Given the description of an element on the screen output the (x, y) to click on. 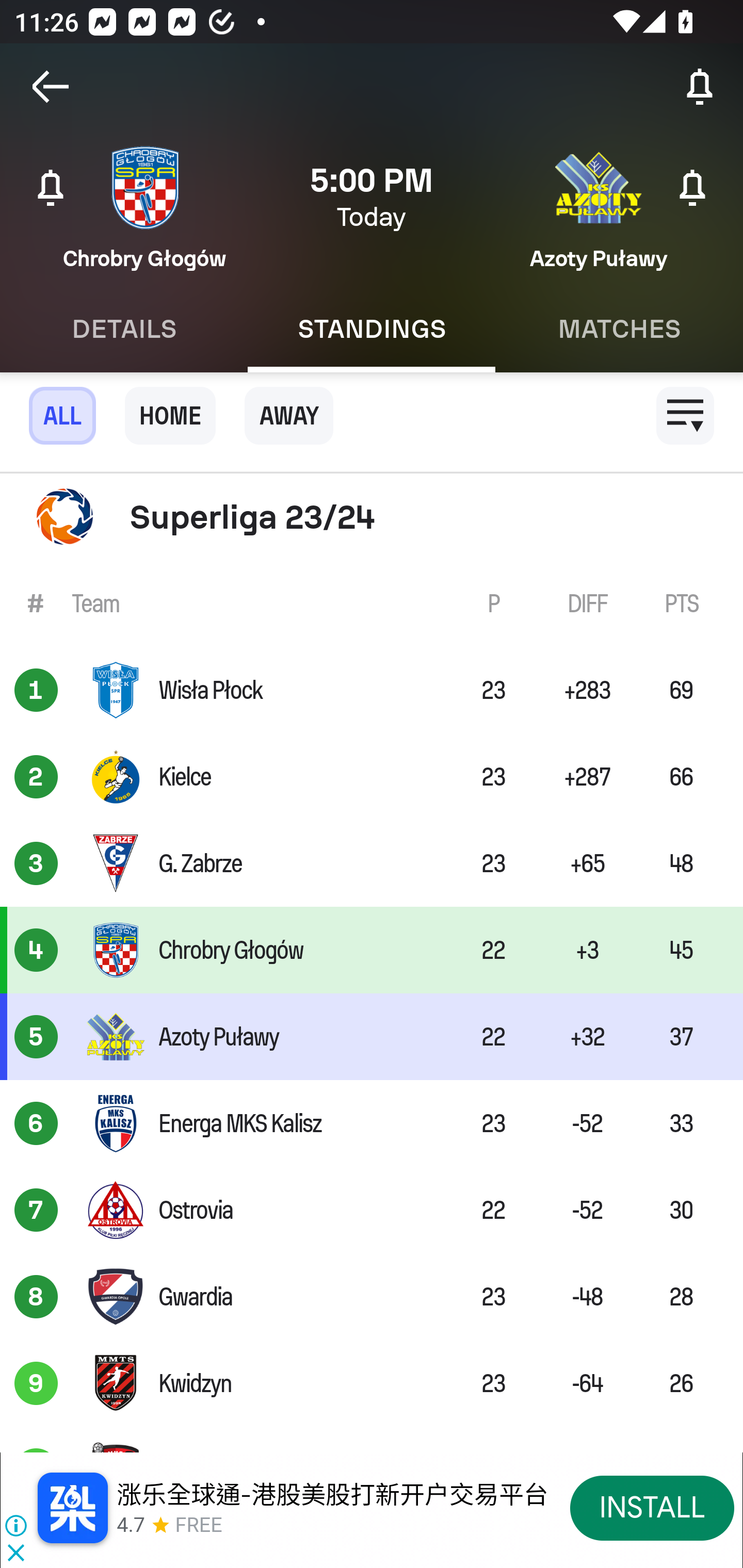
Navigate up (50, 86)
Details DETAILS (123, 329)
Matches MATCHES (619, 329)
ALL (62, 416)
HOME (170, 416)
AWAY (288, 416)
Superliga 23/24 (371, 516)
# Team P DIFF PTS (371, 602)
1 Wisła Płock 23 +283 69 (371, 689)
1 (36, 689)
2 Kielce 23 +287 66 (371, 776)
2 (36, 776)
3 G. Zabrze 23 +65 48 (371, 863)
3 (36, 863)
4 Chrobry Głogów 22 +3 45 (371, 950)
4 (36, 950)
5 Azoty Puławy 22 +32 37 (371, 1037)
5 (36, 1037)
6 Energa MKS Kalisz 23 -52 33 (371, 1123)
6 (36, 1123)
7 Ostrovia 22 -52 30 (371, 1209)
7 (36, 1209)
8 Gwardia 23 -48 28 (371, 1296)
8 (36, 1296)
9 Kwidzyn 23 -64 26 (371, 1383)
9 (36, 1383)
INSTALL (652, 1507)
涨乐全球通-港股美股打新开户交易平台 (332, 1494)
